Given the description of an element on the screen output the (x, y) to click on. 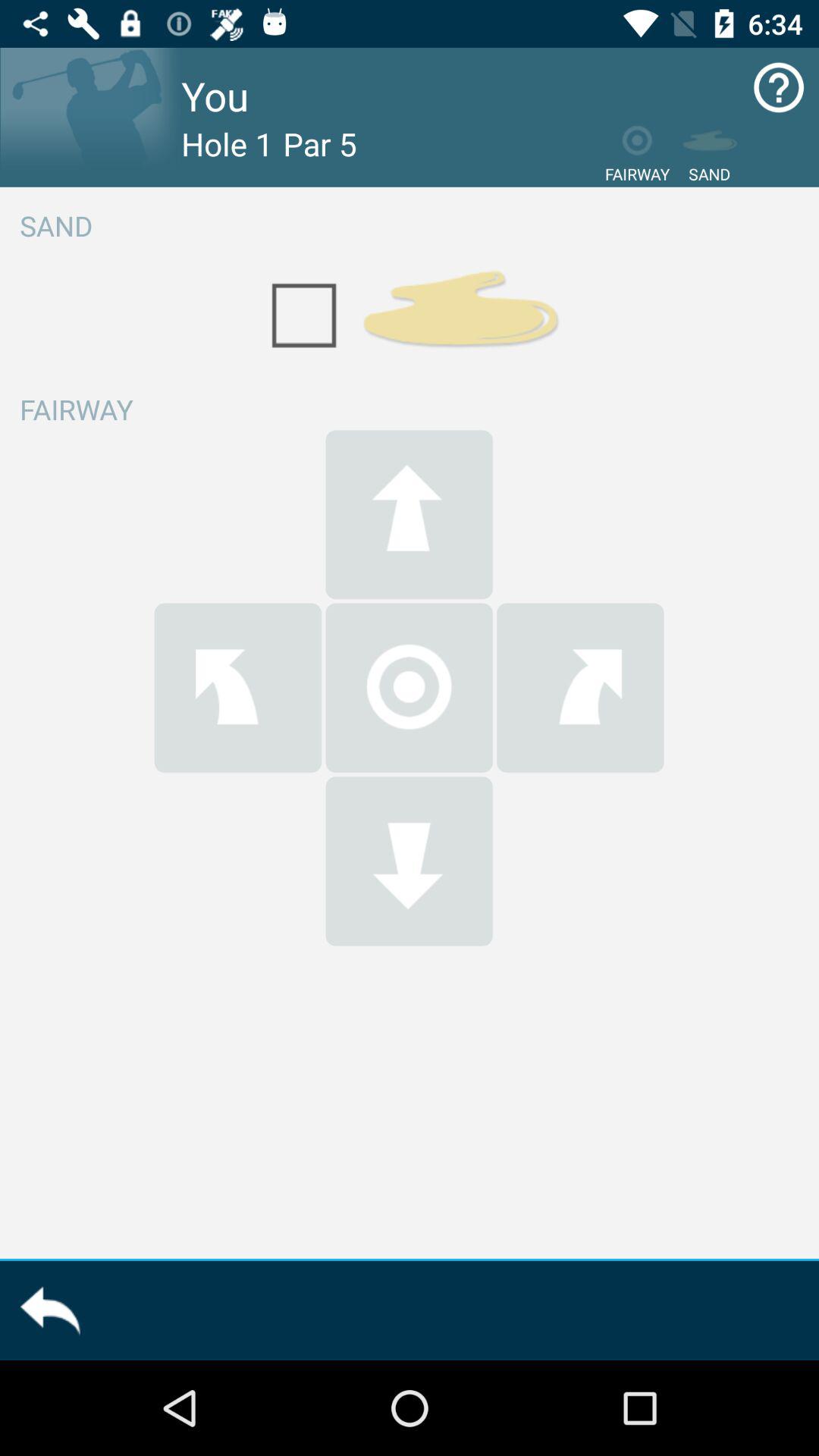
go right (580, 687)
